Given the description of an element on the screen output the (x, y) to click on. 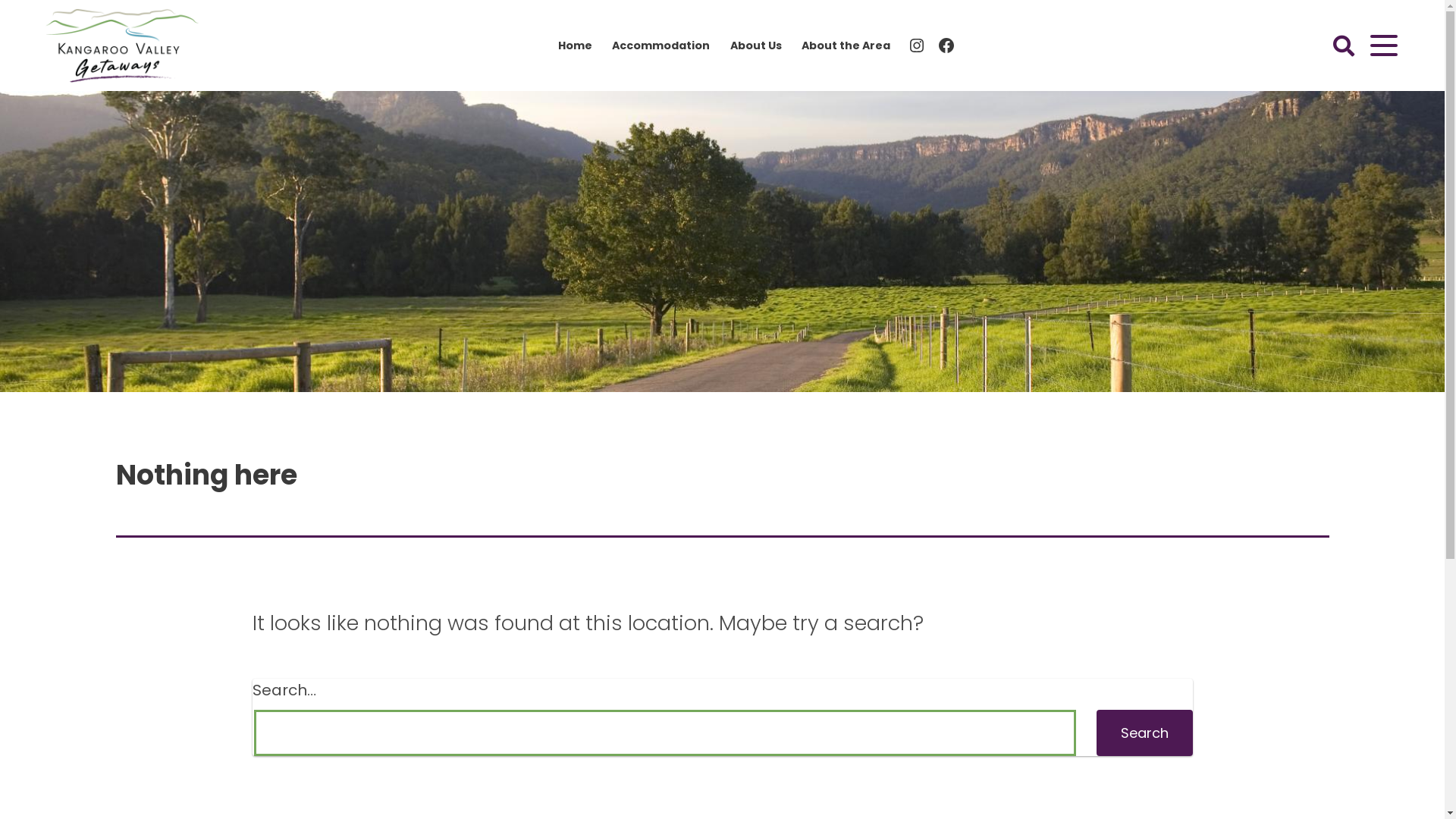
Accommodation Element type: text (660, 45)
Instagram Element type: text (916, 45)
Home Element type: text (575, 45)
About Us Element type: text (755, 45)
About the Area Element type: text (845, 45)
Search Element type: text (1144, 732)
Facebook Element type: text (946, 45)
